Given the description of an element on the screen output the (x, y) to click on. 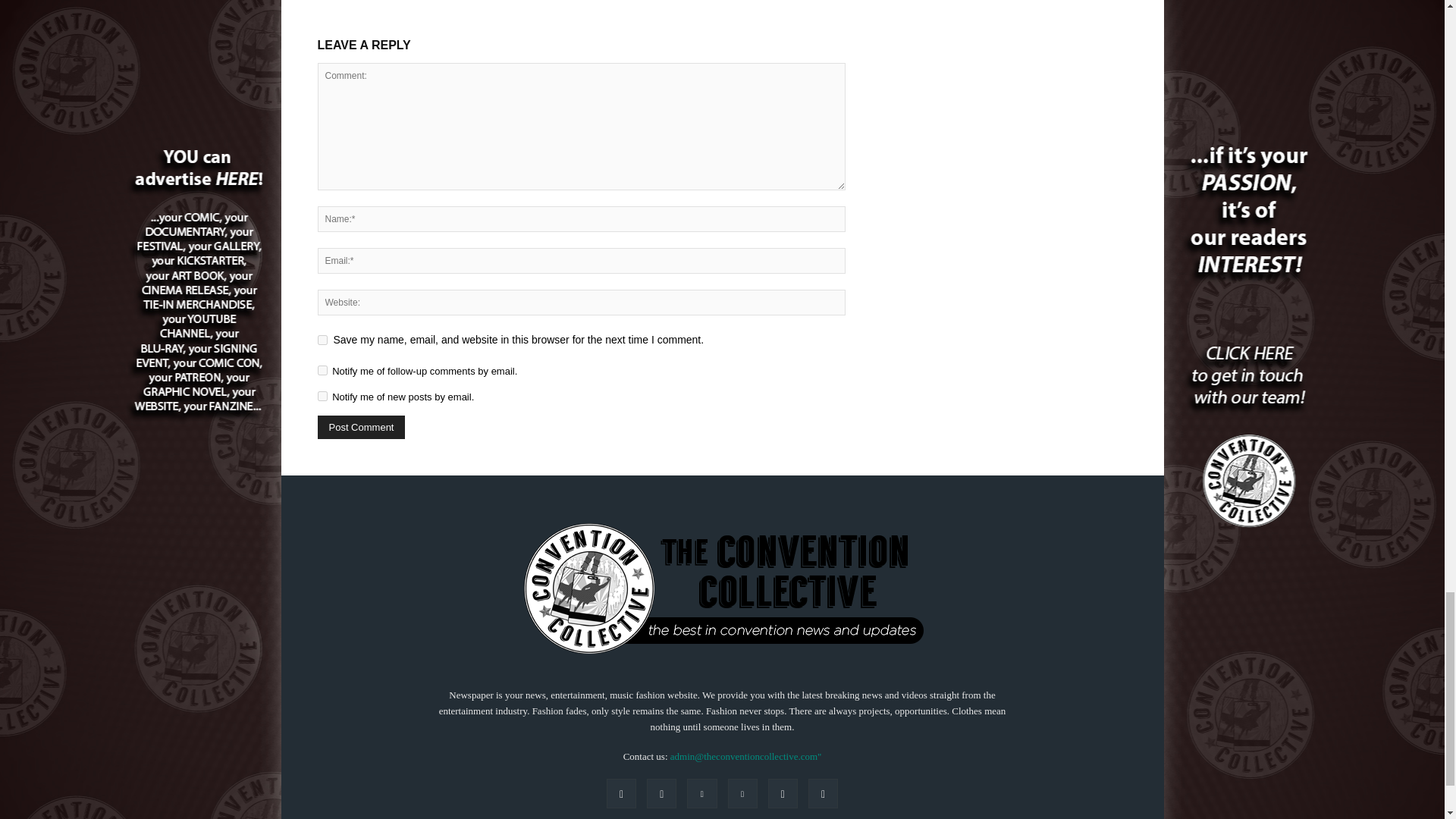
yes (321, 339)
subscribe (321, 396)
subscribe (321, 370)
Post Comment (360, 426)
